Given the description of an element on the screen output the (x, y) to click on. 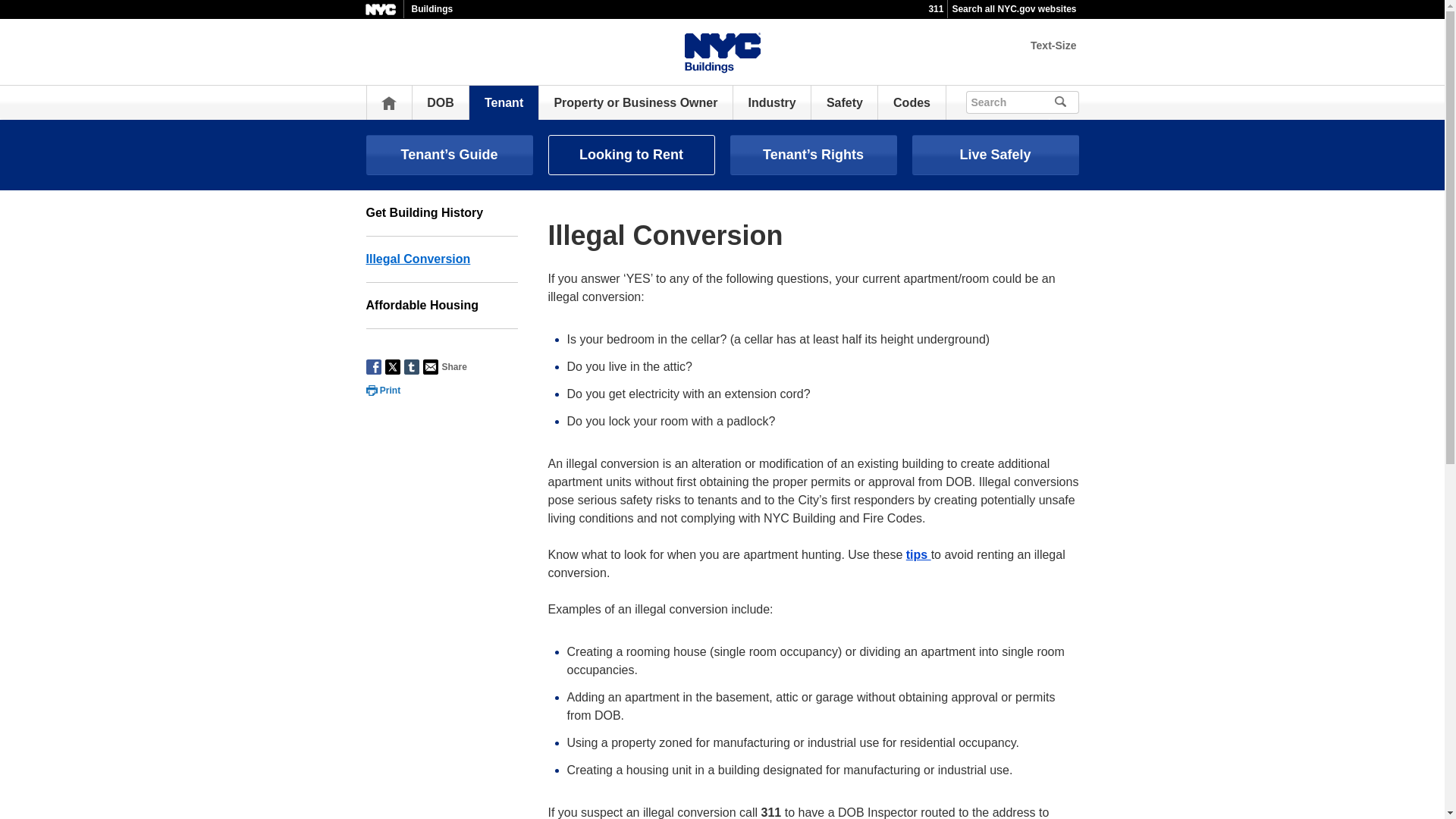
Get Building History (440, 213)
tips (918, 553)
Search all NYC.gov websites (1013, 9)
Tenant (503, 102)
Live Safely (994, 155)
Property or Business Owner (635, 102)
search (1081, 100)
Affordable Housing (440, 305)
search (1081, 100)
Illegal Conversion (440, 259)
